Given the description of an element on the screen output the (x, y) to click on. 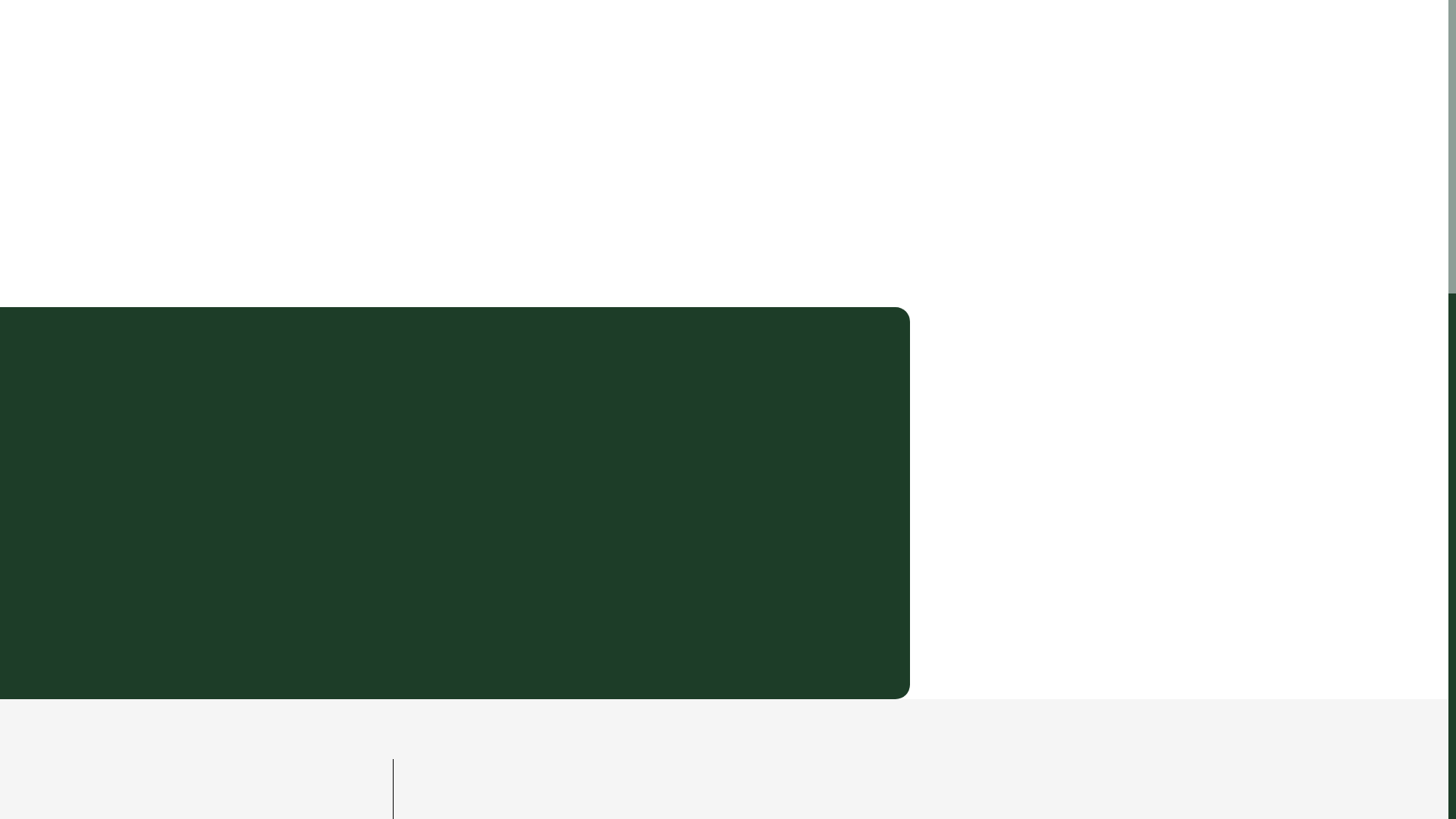
Noewe Legal (723, 48)
Management Consulting (847, 48)
Wealth Management (988, 48)
Corporate Governance (465, 48)
